Given the description of an element on the screen output the (x, y) to click on. 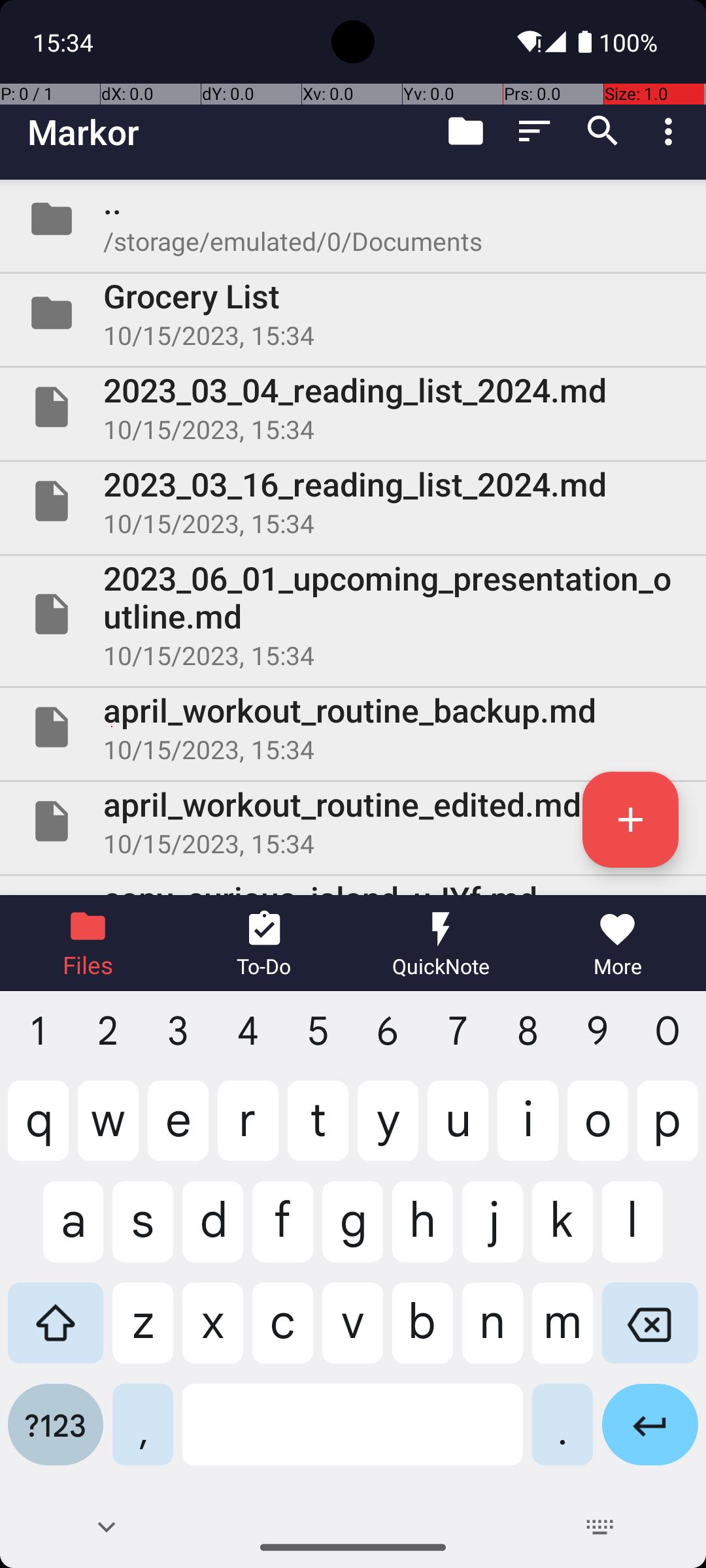
Folder .. 10/15/2023, 15:34 Element type: android.widget.LinearLayout (353, 218)
Folder Grocery List 10/15/2023, 15:34 Element type: android.widget.LinearLayout (353, 312)
File 2023_03_04_reading_list_2024.md  Element type: android.widget.LinearLayout (353, 406)
File 2023_03_16_reading_list_2024.md  Element type: android.widget.LinearLayout (353, 500)
File 2023_06_01_upcoming_presentation_outline.md  Element type: android.widget.LinearLayout (353, 613)
File april_workout_routine_backup.md  Element type: android.widget.LinearLayout (353, 726)
File april_workout_routine_edited.md  Element type: android.widget.LinearLayout (353, 821)
File copy_curious_island_uJYf.md  Element type: android.widget.LinearLayout (353, 885)
